Given the description of an element on the screen output the (x, y) to click on. 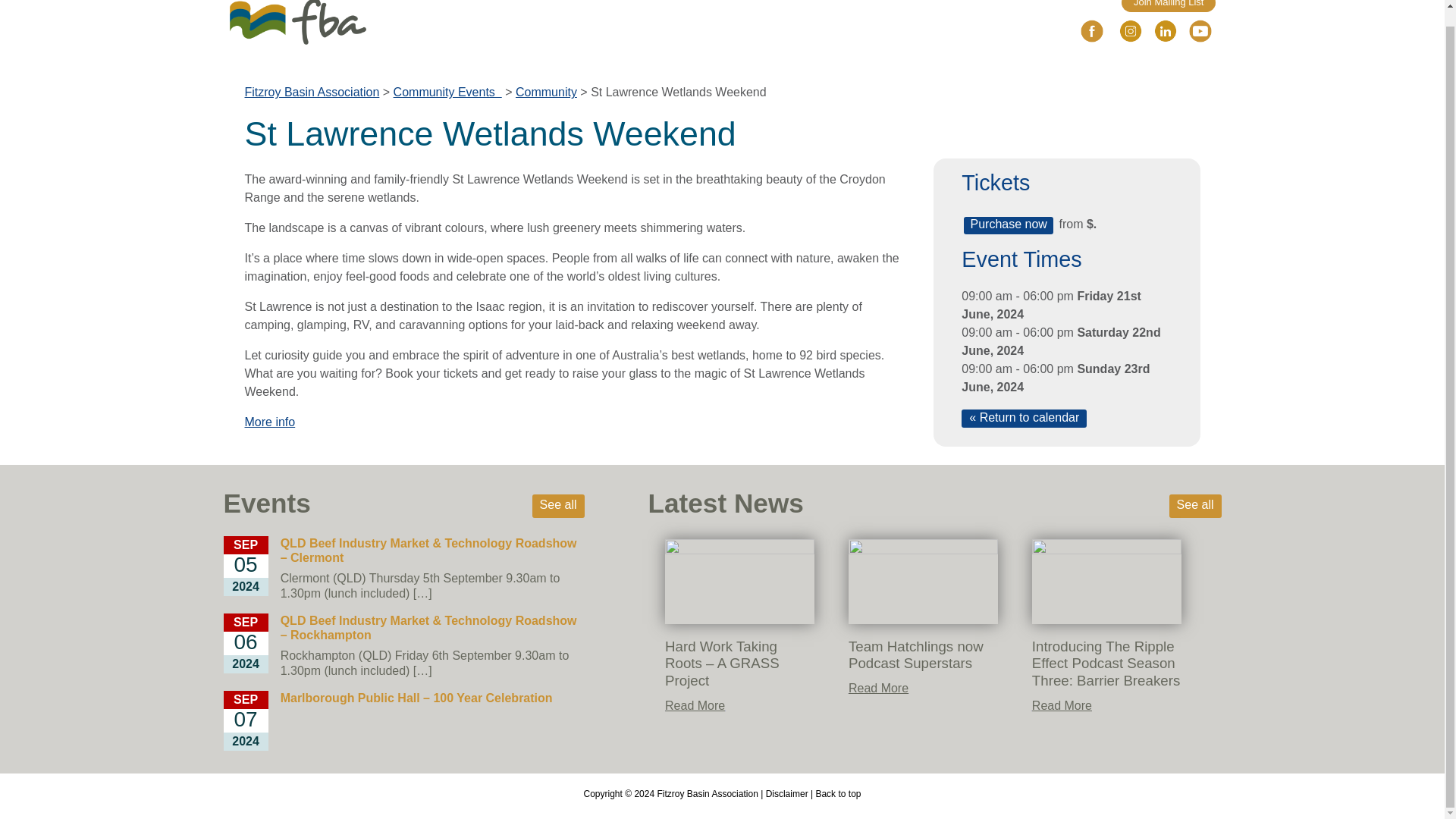
Join Mailing List (1168, 6)
Go to Fitzroy Basin Association. (311, 91)
Go to the Community Categories archives. (545, 91)
